Given the description of an element on the screen output the (x, y) to click on. 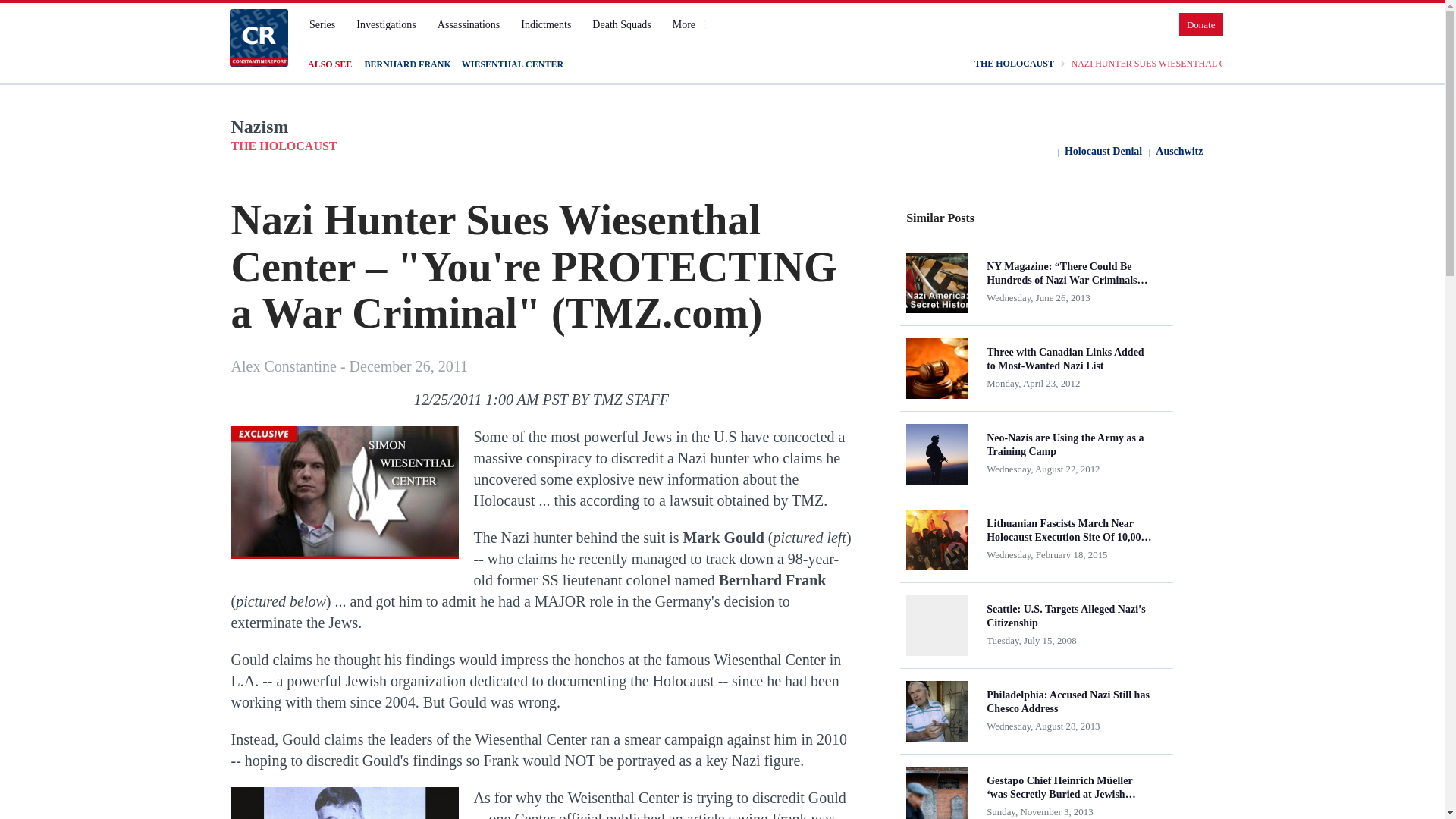
Assassinations (467, 23)
Indictments (545, 23)
BERNHARD FRANK (406, 64)
Series (321, 23)
More (690, 24)
Investigations (386, 23)
Constantine Report (257, 37)
Death Squads (621, 23)
Donate (1201, 24)
WIESENTHAL CENTER (512, 64)
THE HOLOCAUST (1014, 63)
